Given the description of an element on the screen output the (x, y) to click on. 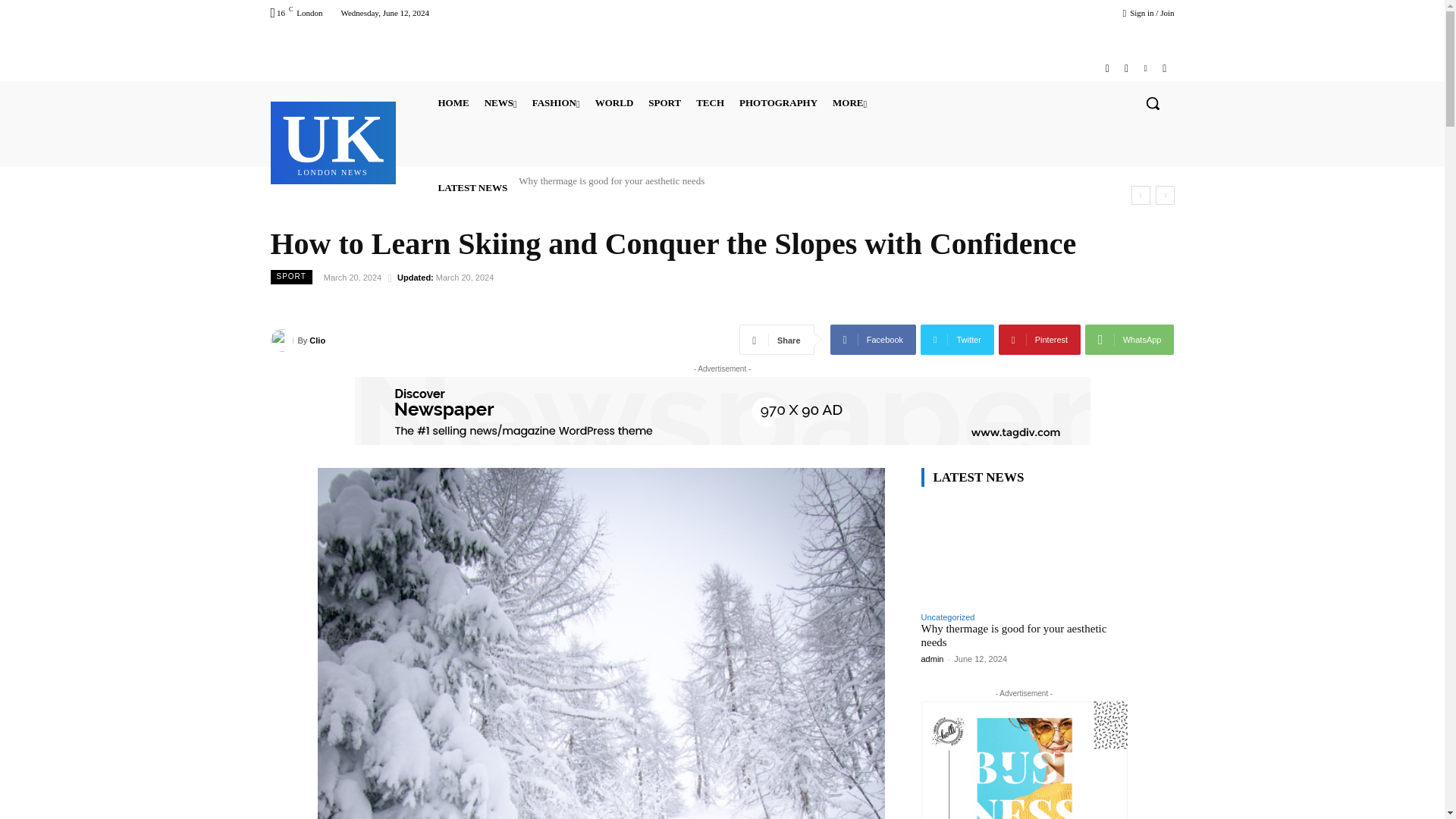
Instagram (1125, 67)
Twitter (1144, 67)
Facebook (1106, 67)
Youtube (1163, 67)
Why thermage is good for your aesthetic needs (611, 180)
